Given the description of an element on the screen output the (x, y) to click on. 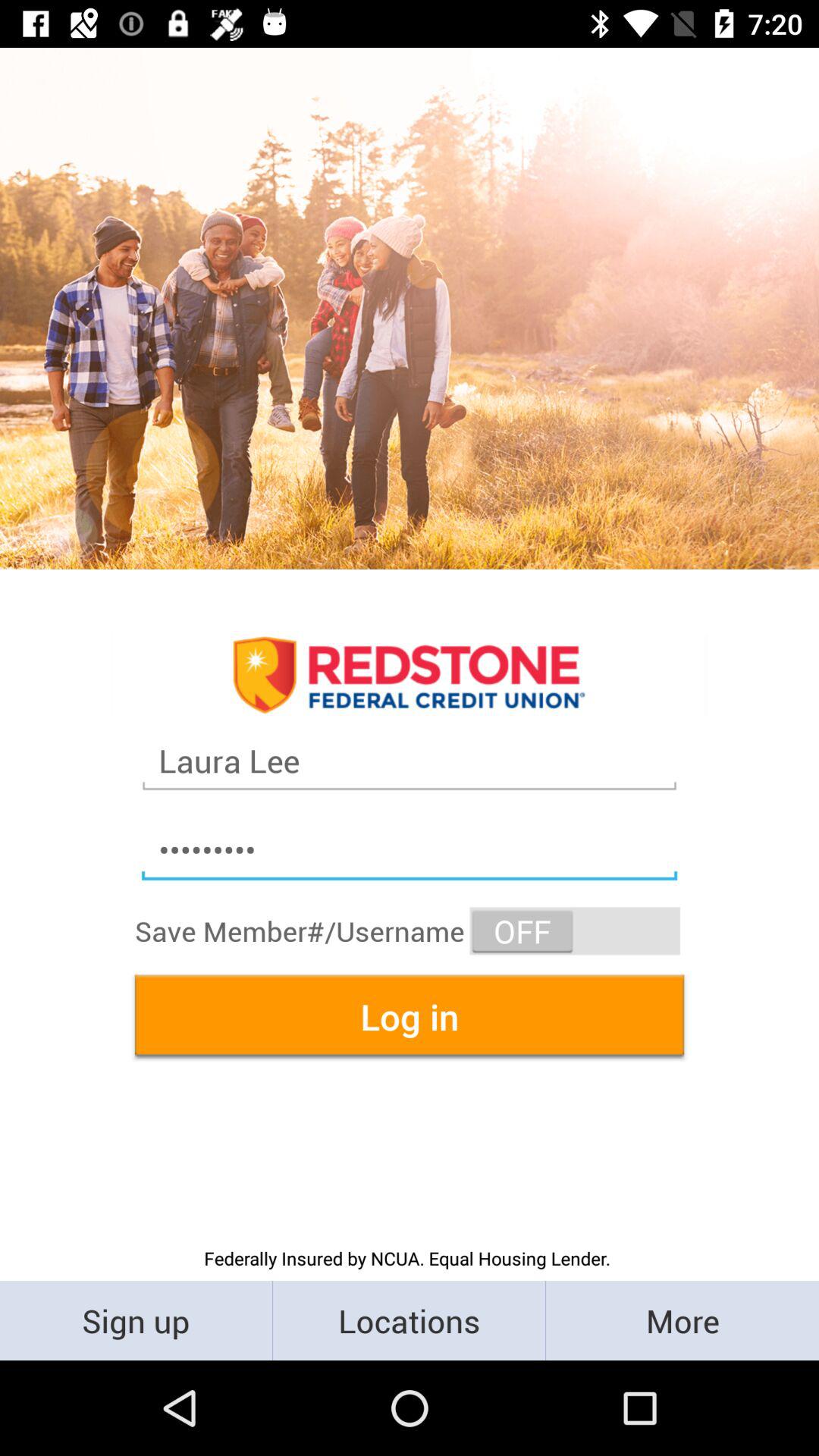
jump to the sign up icon (136, 1320)
